Given the description of an element on the screen output the (x, y) to click on. 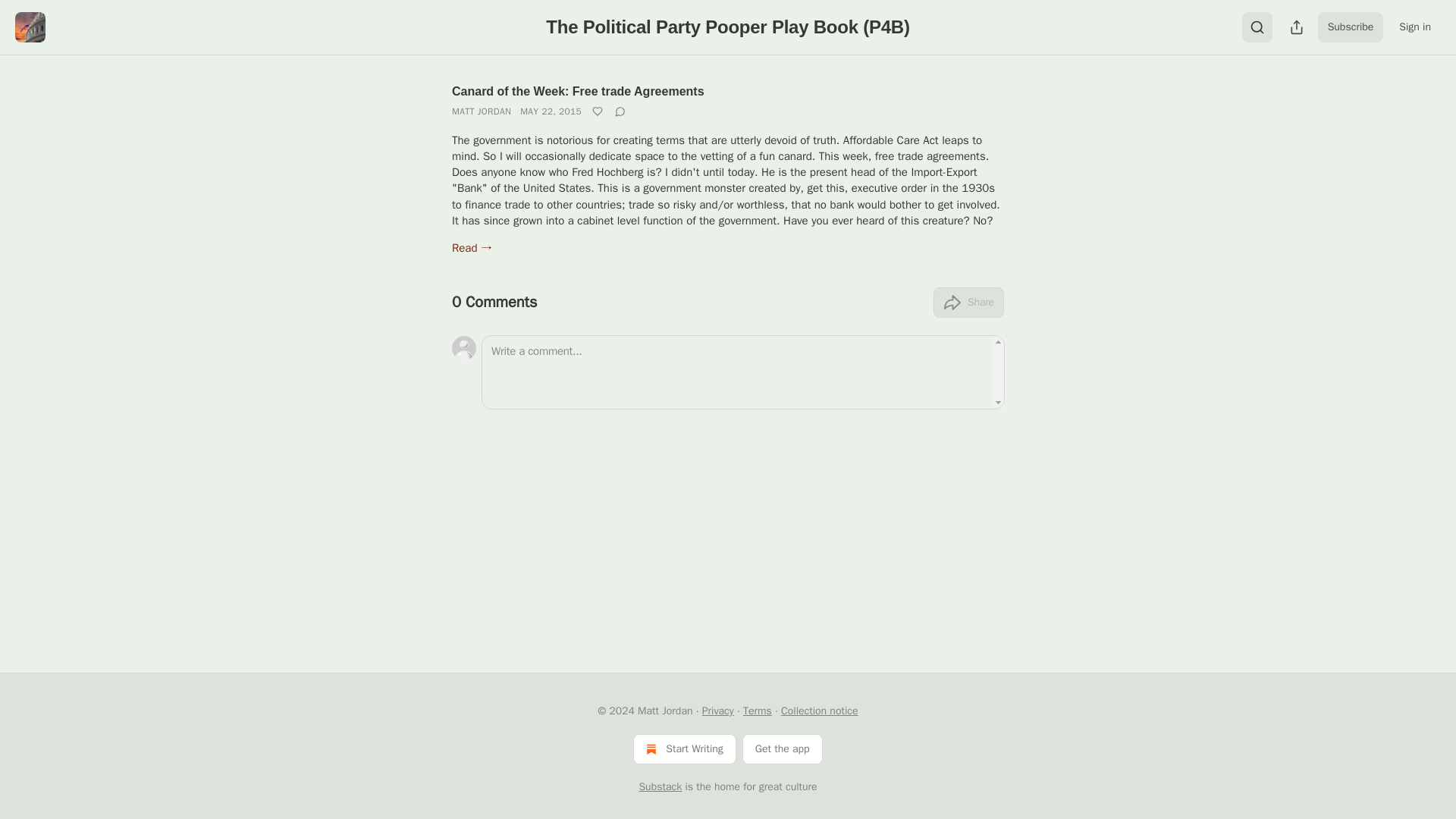
MATT JORDAN (481, 111)
Start Writing (684, 748)
Privacy (717, 710)
Share (968, 302)
Sign in (1415, 27)
Terms (756, 710)
Subscribe (1350, 27)
Get the app (782, 748)
Canard of the Week: Free trade Agreements (577, 91)
Collection notice (818, 710)
Substack (660, 786)
2015-05-22T13:44:00.000Z (549, 111)
